Given the description of an element on the screen output the (x, y) to click on. 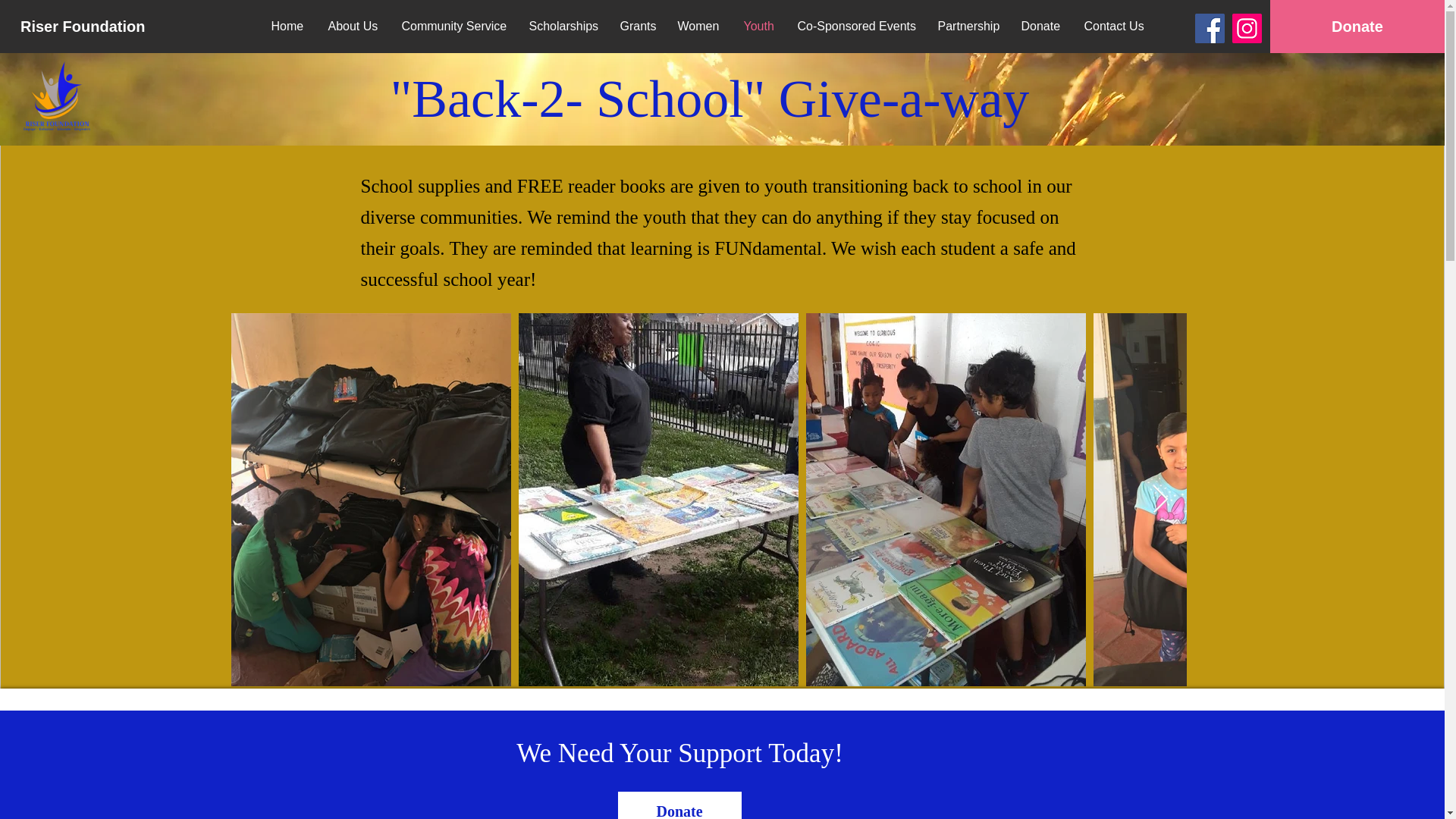
Grants (636, 26)
Riser Foundation (87, 25)
Scholarships (562, 26)
Partnership (968, 26)
Contact Us (1112, 26)
Co-Sponsored Events (856, 26)
Women (698, 26)
Donate (679, 805)
Youth (759, 26)
Community Service (453, 26)
